Given the description of an element on the screen output the (x, y) to click on. 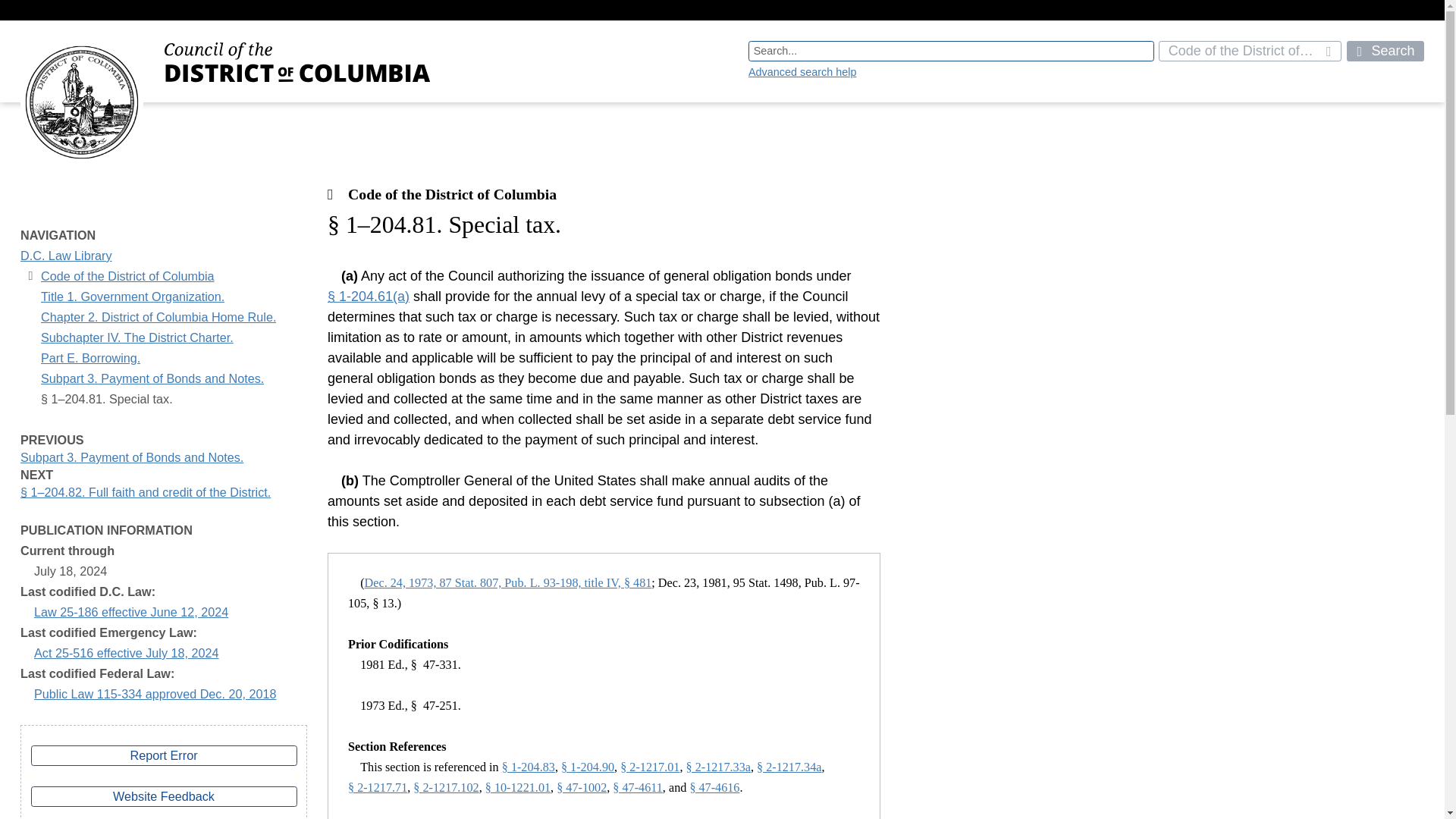
Code of the District of Columbia (1249, 50)
Chapter 2. District of Columbia Home Rule. (158, 317)
Code of the District of Columbia (127, 276)
Part E. Borrowing. (89, 358)
Subpart 3. Payment of Bonds and Notes. (151, 378)
D.C. Law Library (66, 255)
Part E. Borrowing. (89, 358)
D.C. Law Library (66, 255)
Search (1384, 50)
Subpart 3. Payment of Bonds and Notes. (151, 378)
